Given the description of an element on the screen output the (x, y) to click on. 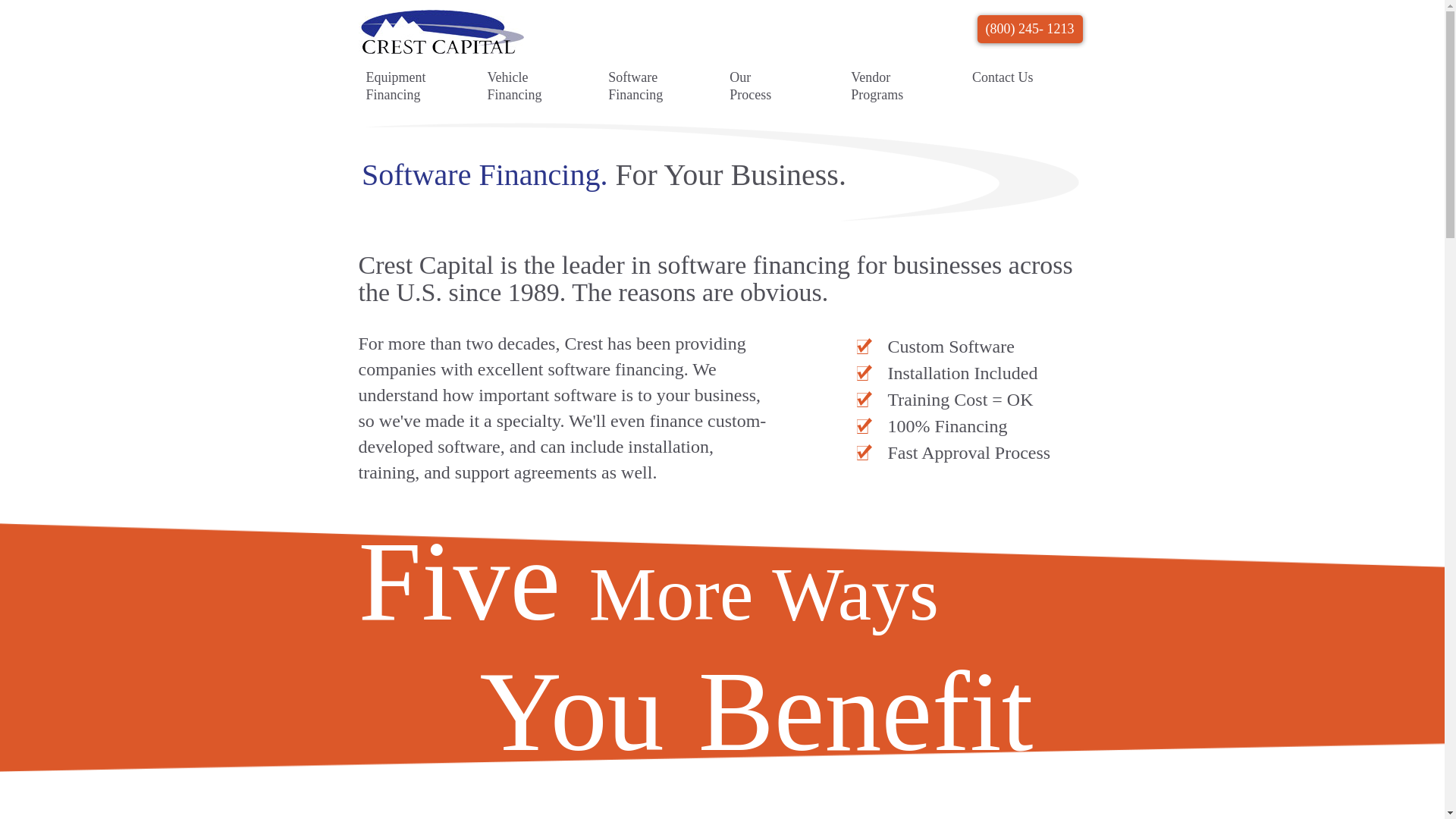
Contact Us (1002, 77)
Equipment Financing (395, 86)
Our Process (759, 86)
Vendor Programs (881, 86)
Vehicle Financing (517, 86)
Software Financing (638, 86)
